Given the description of an element on the screen output the (x, y) to click on. 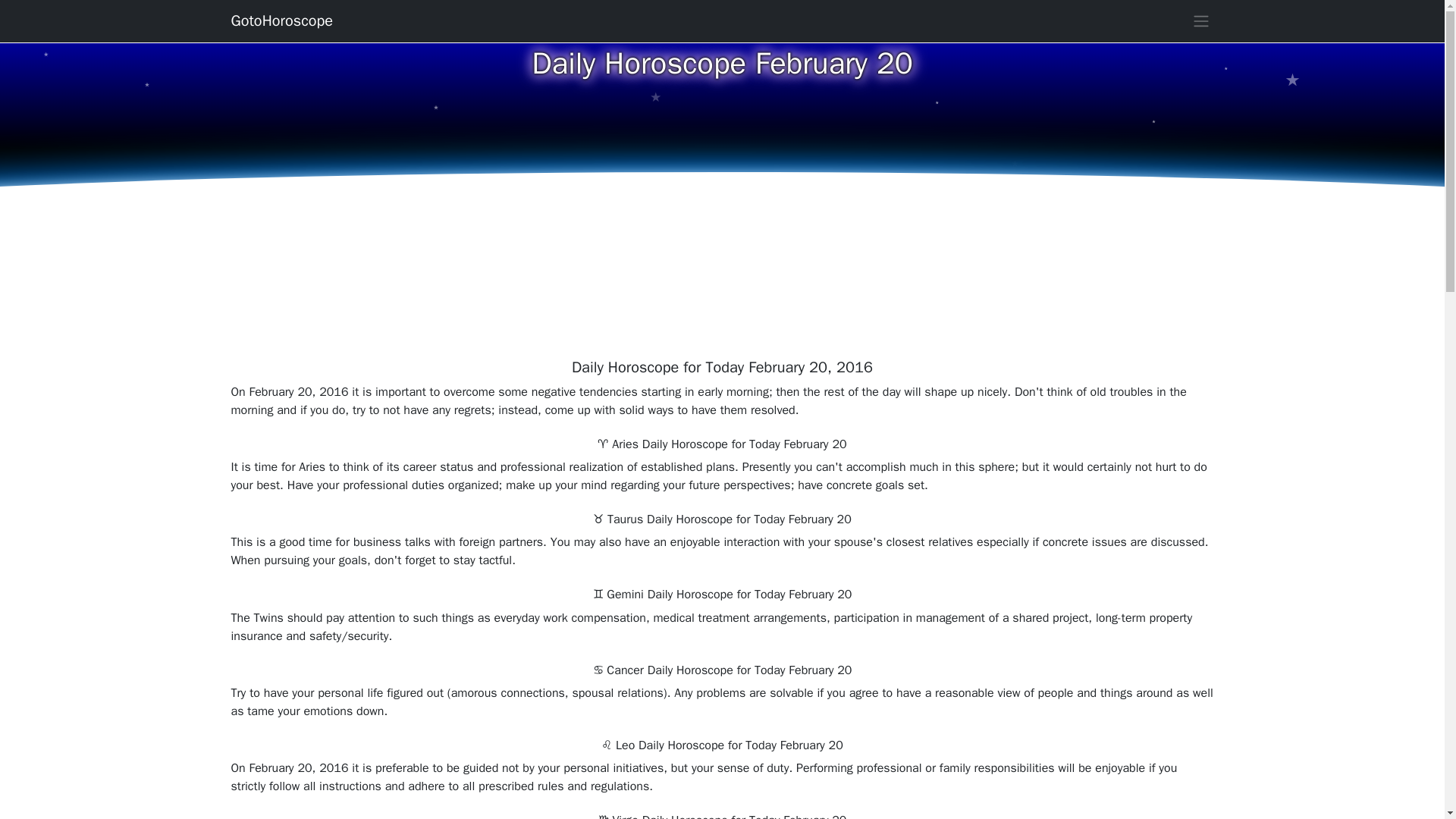
Goto Horoscope Home (281, 20)
GotoHoroscope (281, 20)
